Given the description of an element on the screen output the (x, y) to click on. 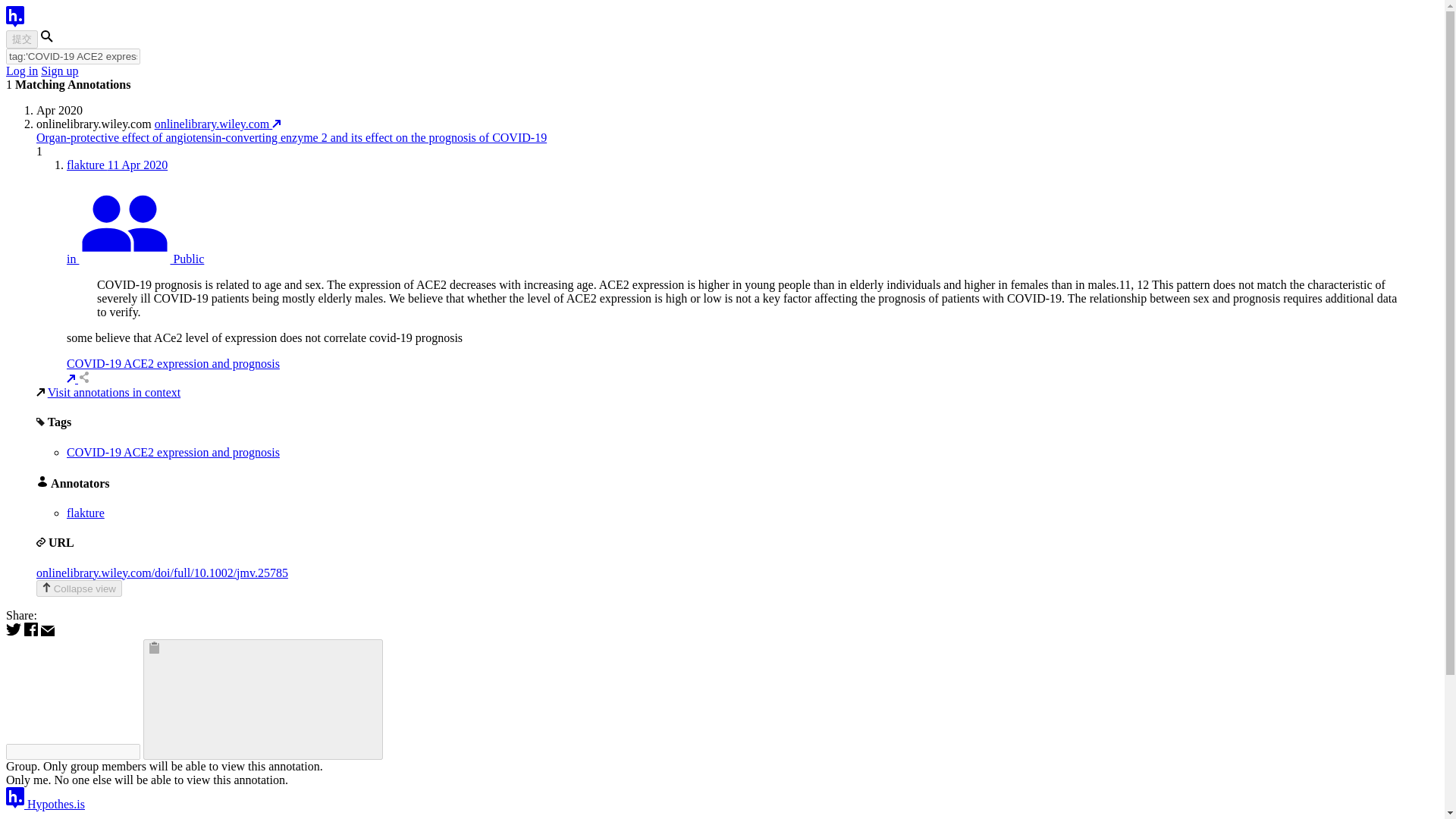
onlinelibrary.wiley.com (217, 123)
in Public (134, 258)
Collapse view (79, 588)
flakture (86, 164)
date (137, 164)
Share via email (47, 631)
expand annotations for this url (291, 137)
Tweet link (14, 631)
group (134, 258)
11 Apr 2020 (137, 164)
username (86, 164)
Annotation quote (752, 298)
Sign up (59, 70)
COVID-19 ACE2 expression and prognosis (172, 451)
flakture (85, 512)
